Given the description of an element on the screen output the (x, y) to click on. 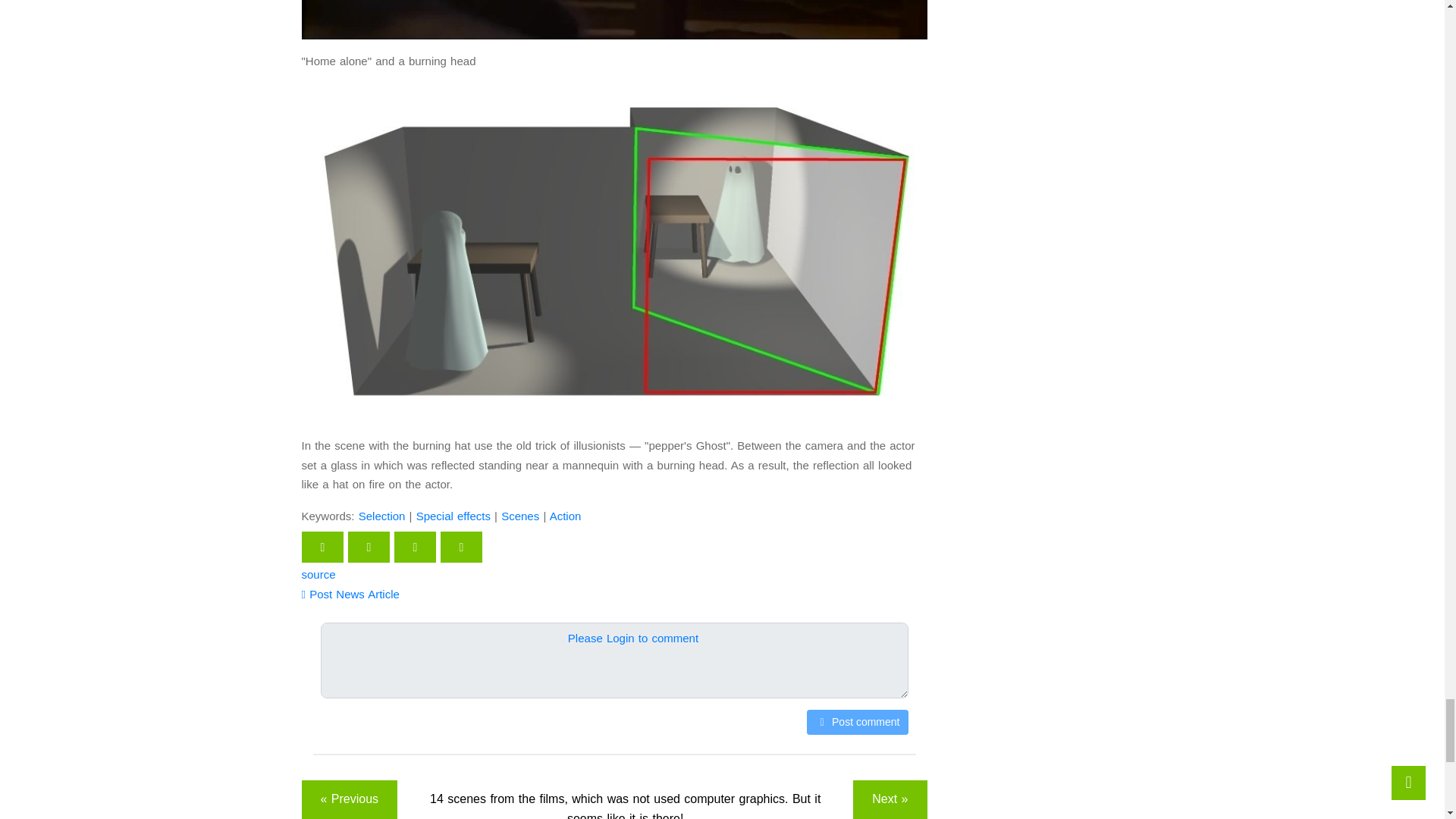
Scenes (519, 515)
Post News Article (349, 594)
Please Login to comment (632, 638)
source (318, 574)
Action (565, 515)
Special effects (453, 515)
Post comment (856, 722)
Selection (382, 515)
